Given the description of an element on the screen output the (x, y) to click on. 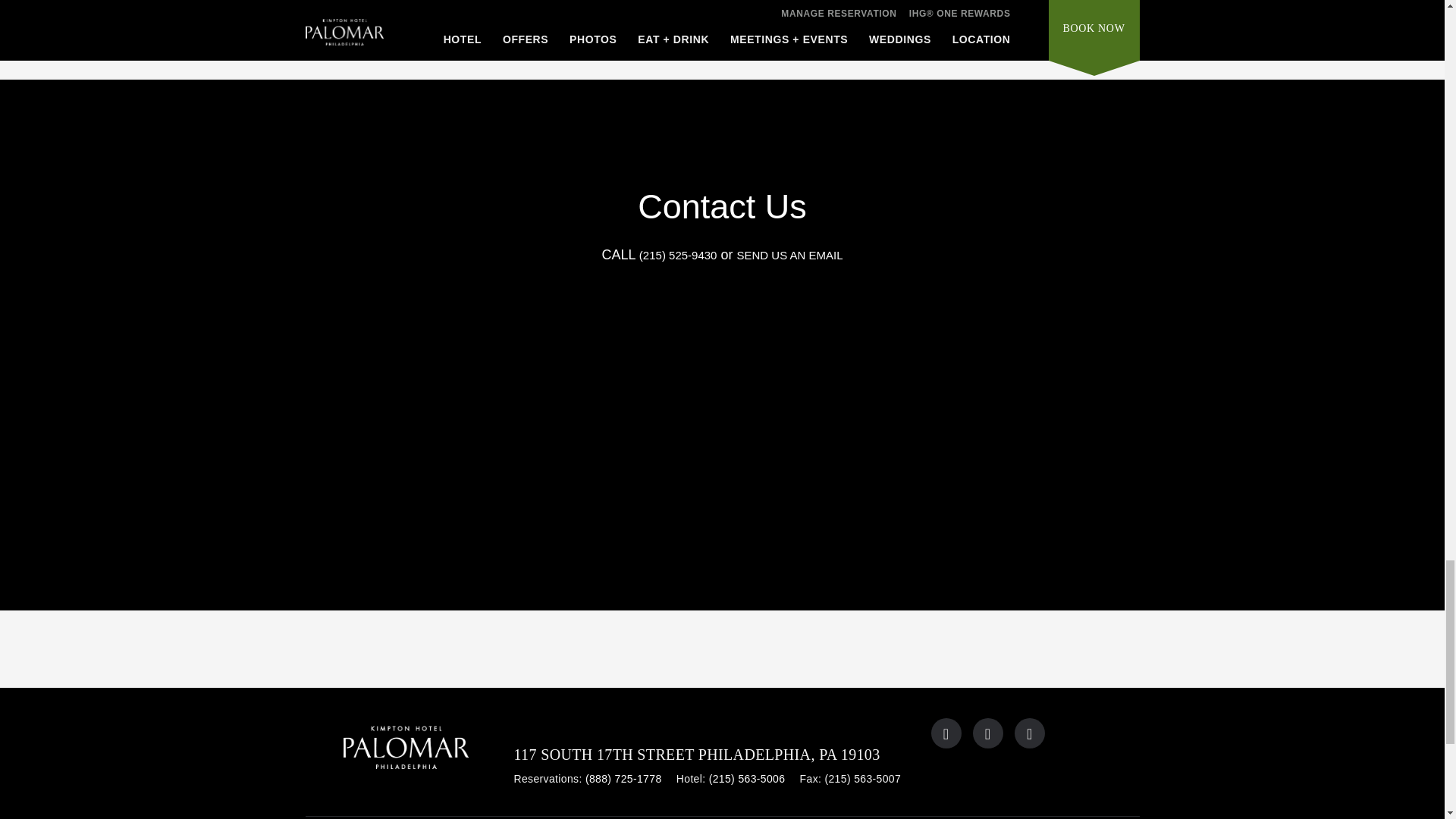
Kimpton Hotel Palomar Philadelphia on Facebook (987, 733)
Kimpton Hotel Palomar Philadelphia on Instagram (1029, 733)
Home (408, 751)
Kimpton Hotel Palomar Philadelphia on Twitter (945, 733)
